Given the description of an element on the screen output the (x, y) to click on. 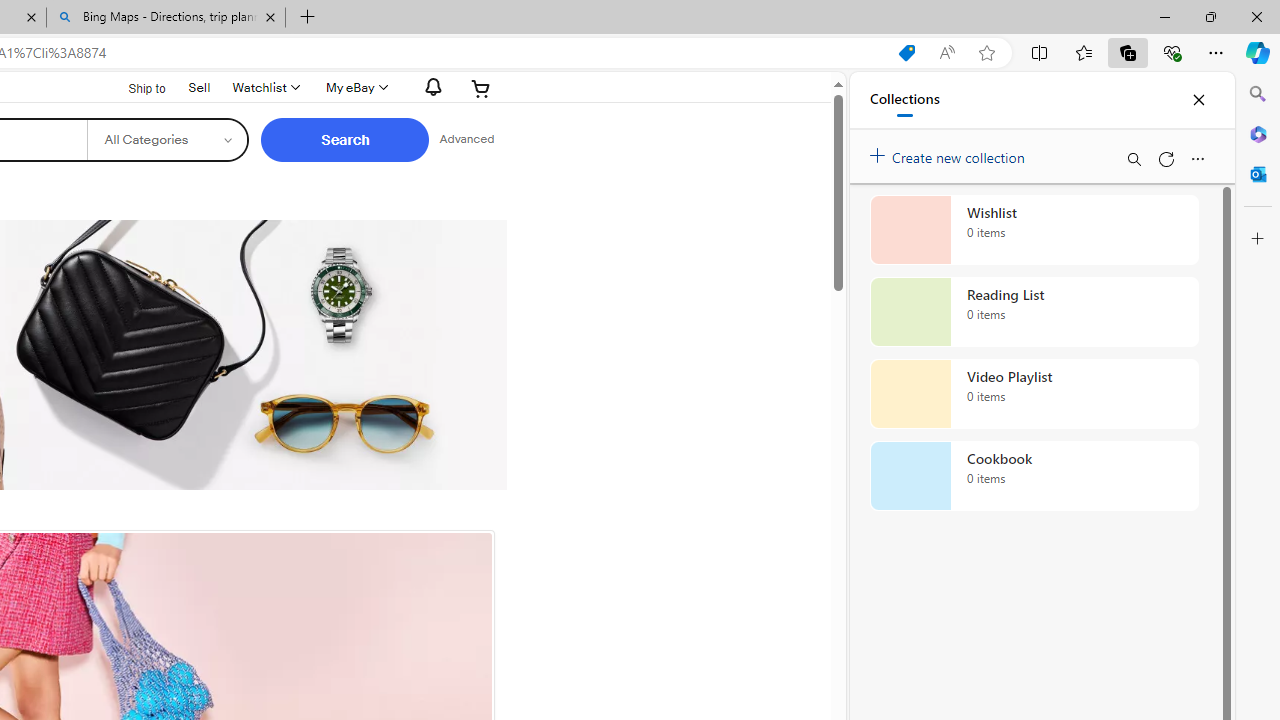
Watchlist (264, 88)
Cookbook collection, 0 items (1034, 475)
Wishlist collection, 0 items (1034, 229)
Select a category for search (167, 139)
My eBayExpand My eBay (354, 88)
My eBay (354, 88)
